Given the description of an element on the screen output the (x, y) to click on. 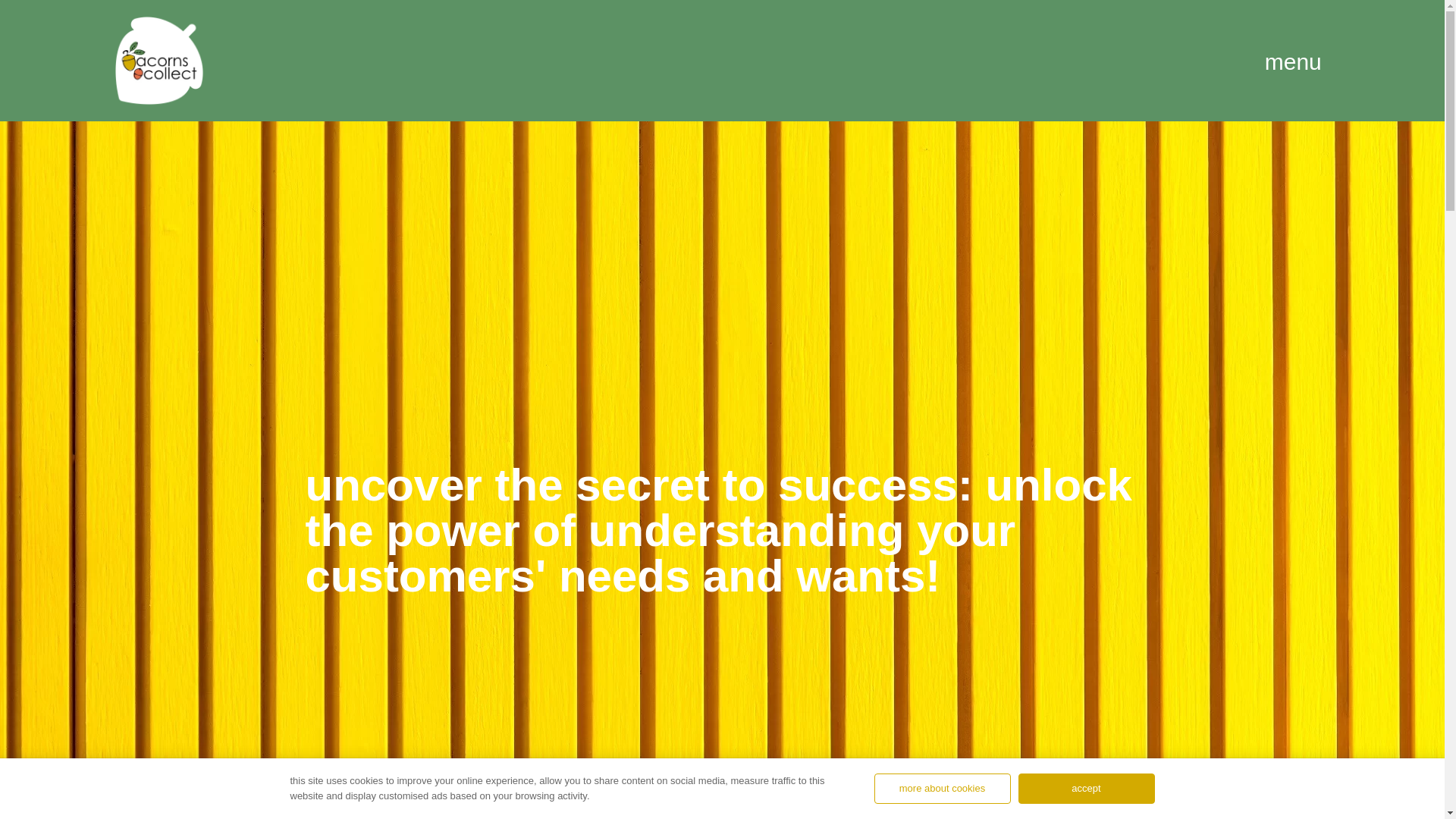
Acorns Collect white acorn (159, 60)
menu (1296, 60)
menu (1296, 60)
